Given the description of an element on the screen output the (x, y) to click on. 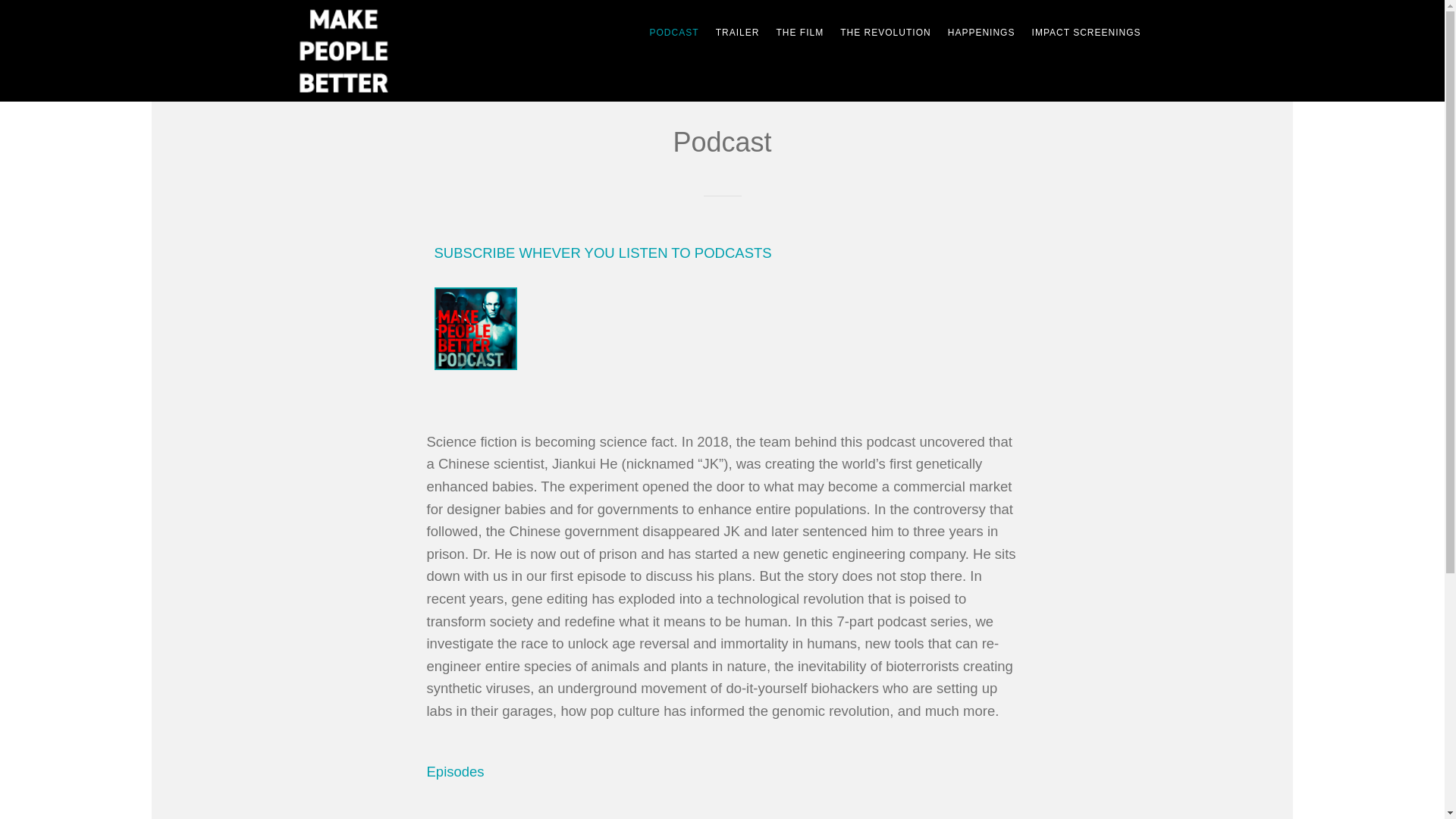
THE REVOLUTION (885, 32)
THE FILM (799, 32)
TRAILER (737, 32)
IMPACT SCREENINGS (1086, 32)
SUBSCRIBE WHEVER YOU LISTEN TO PODCASTS (602, 252)
Episodes (454, 770)
PODCAST (673, 32)
HAPPENINGS (982, 32)
MAKE PEOPLE BETTER (365, 50)
